Given the description of an element on the screen output the (x, y) to click on. 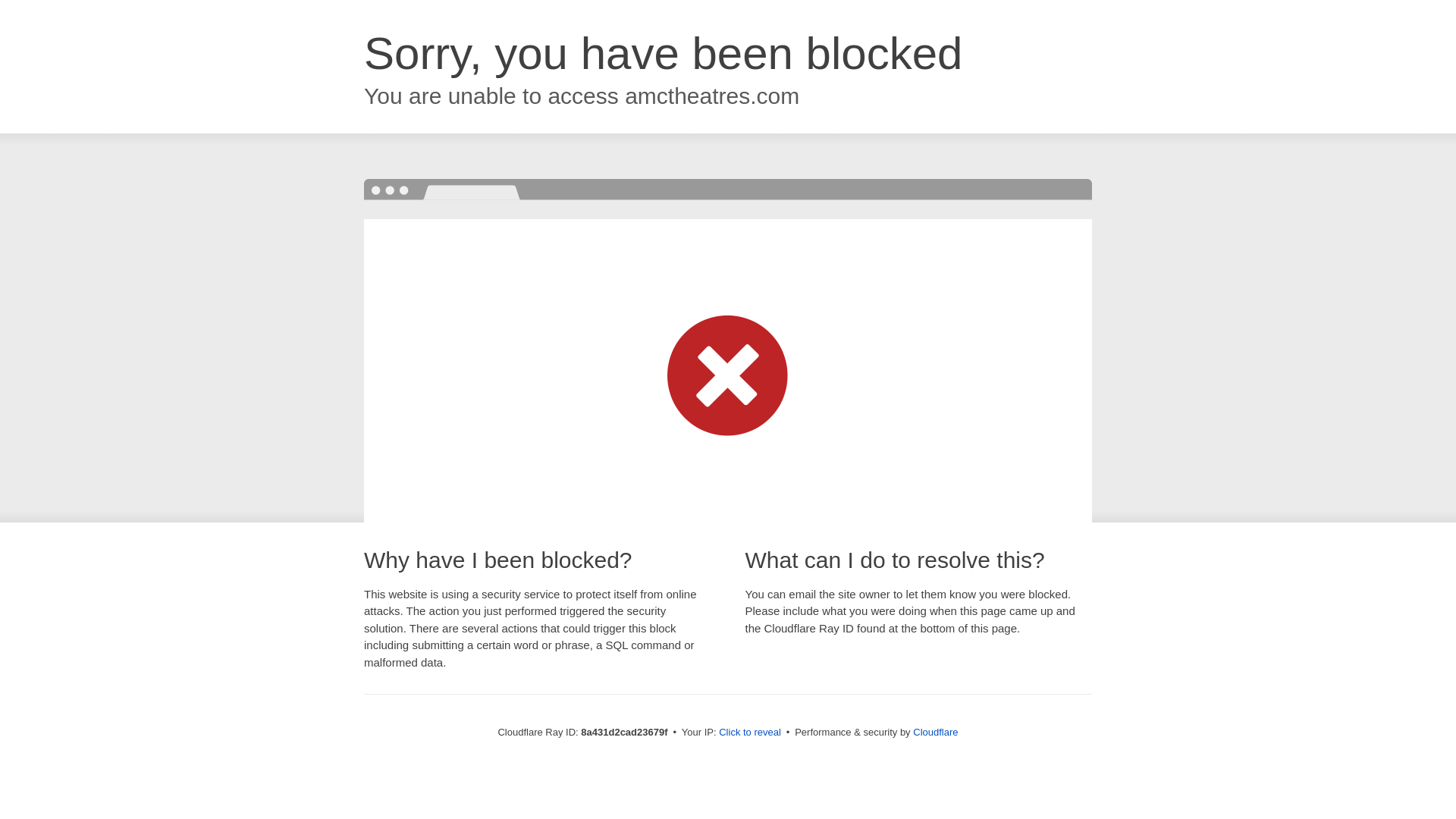
Click to reveal (749, 732)
Cloudflare (935, 731)
